Given the description of an element on the screen output the (x, y) to click on. 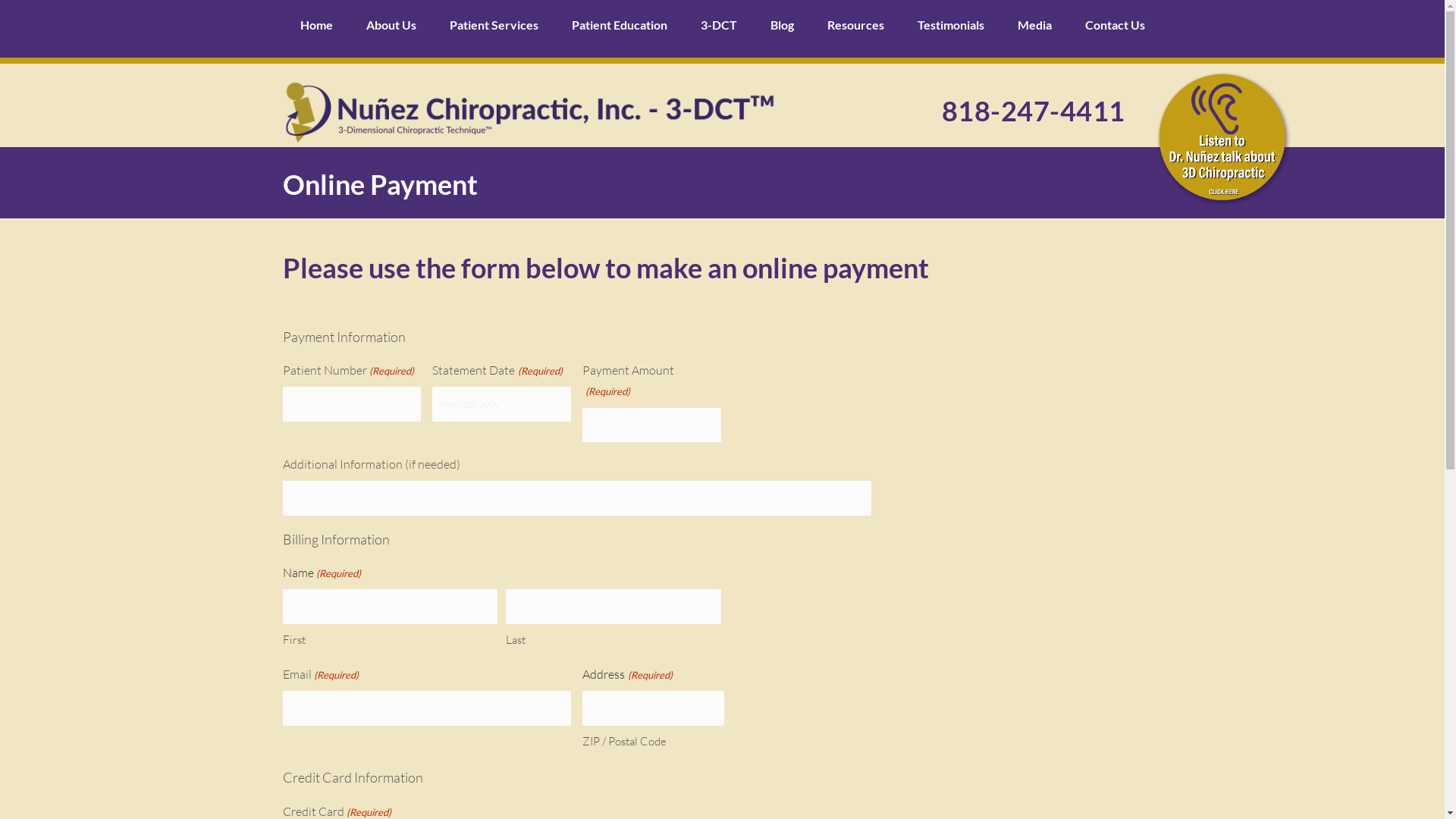
3-DCT Element type: text (718, 24)
Resources Element type: text (854, 24)
Testimonials Element type: text (950, 24)
About Us Element type: text (390, 24)
Home Element type: text (316, 24)
3dchiro-logo Element type: hover (529, 112)
Media Element type: text (1034, 24)
Contact Us Element type: text (1114, 24)
Patient Services Element type: text (493, 24)
Blog Element type: text (781, 24)
Patient Education Element type: text (619, 24)
listen-to-dr-nunez Element type: hover (1223, 139)
